Given the description of an element on the screen output the (x, y) to click on. 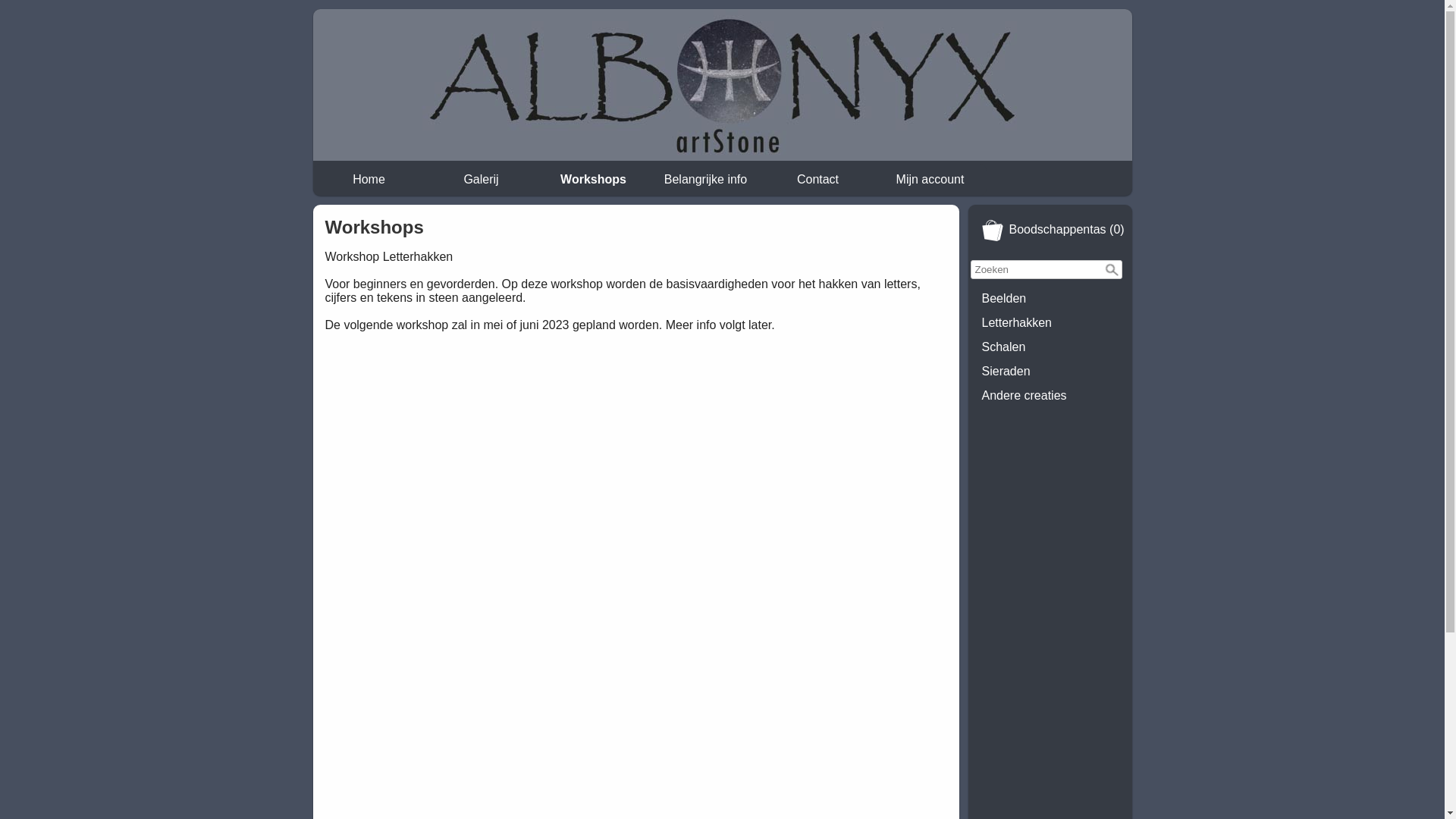
Workshops Element type: text (593, 179)
Belangrijke info Element type: text (705, 179)
Home Element type: text (368, 179)
Sieraden Element type: text (1049, 371)
BoodschappentasBoodschappentas (0) Element type: text (1049, 230)
Mijn account Element type: text (930, 179)
Beelden Element type: text (1049, 298)
Letterhakken Element type: text (1049, 322)
Schalen Element type: text (1049, 347)
Galerij Element type: text (481, 179)
Andere creaties Element type: text (1049, 395)
Contact Element type: text (817, 179)
